Given the description of an element on the screen output the (x, y) to click on. 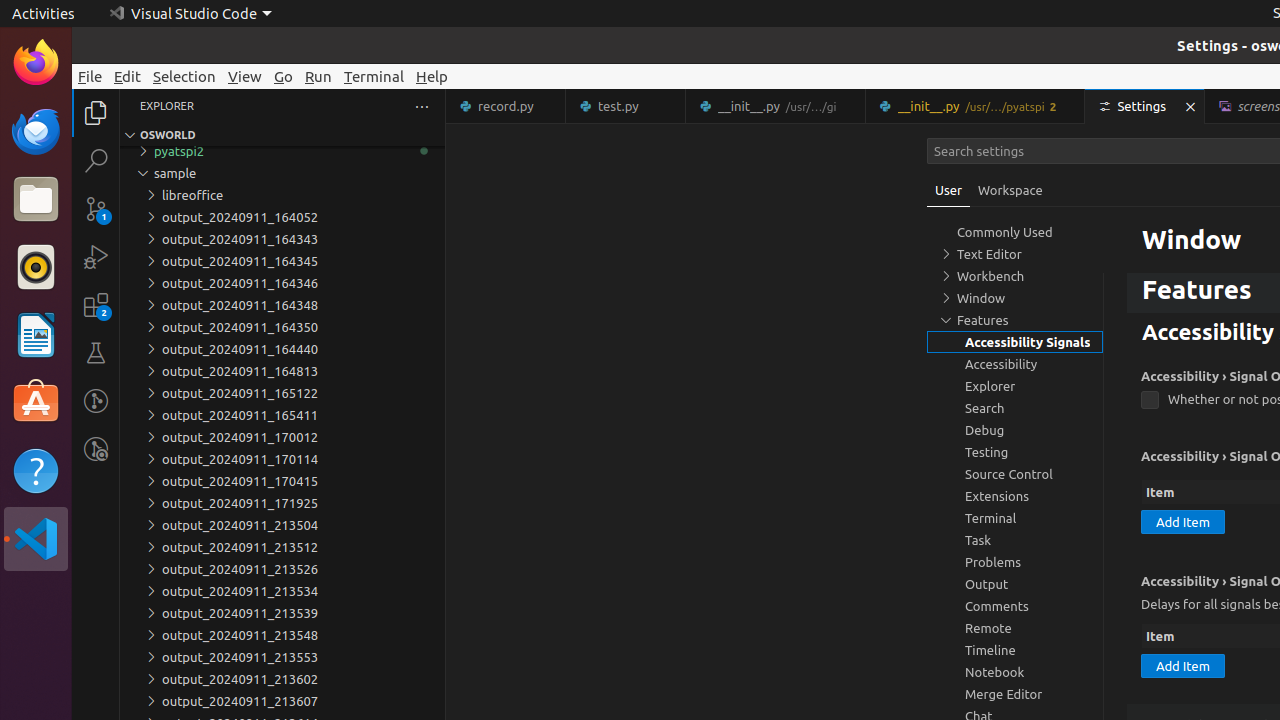
output_20240911_213534 Element type: tree-item (282, 591)
Selection Element type: push-button (184, 76)
accessibility.signalOptions.debouncePositionChanges Element type: check-box (1150, 400)
Debug, group Element type: tree-item (1015, 430)
